Given the description of an element on the screen output the (x, y) to click on. 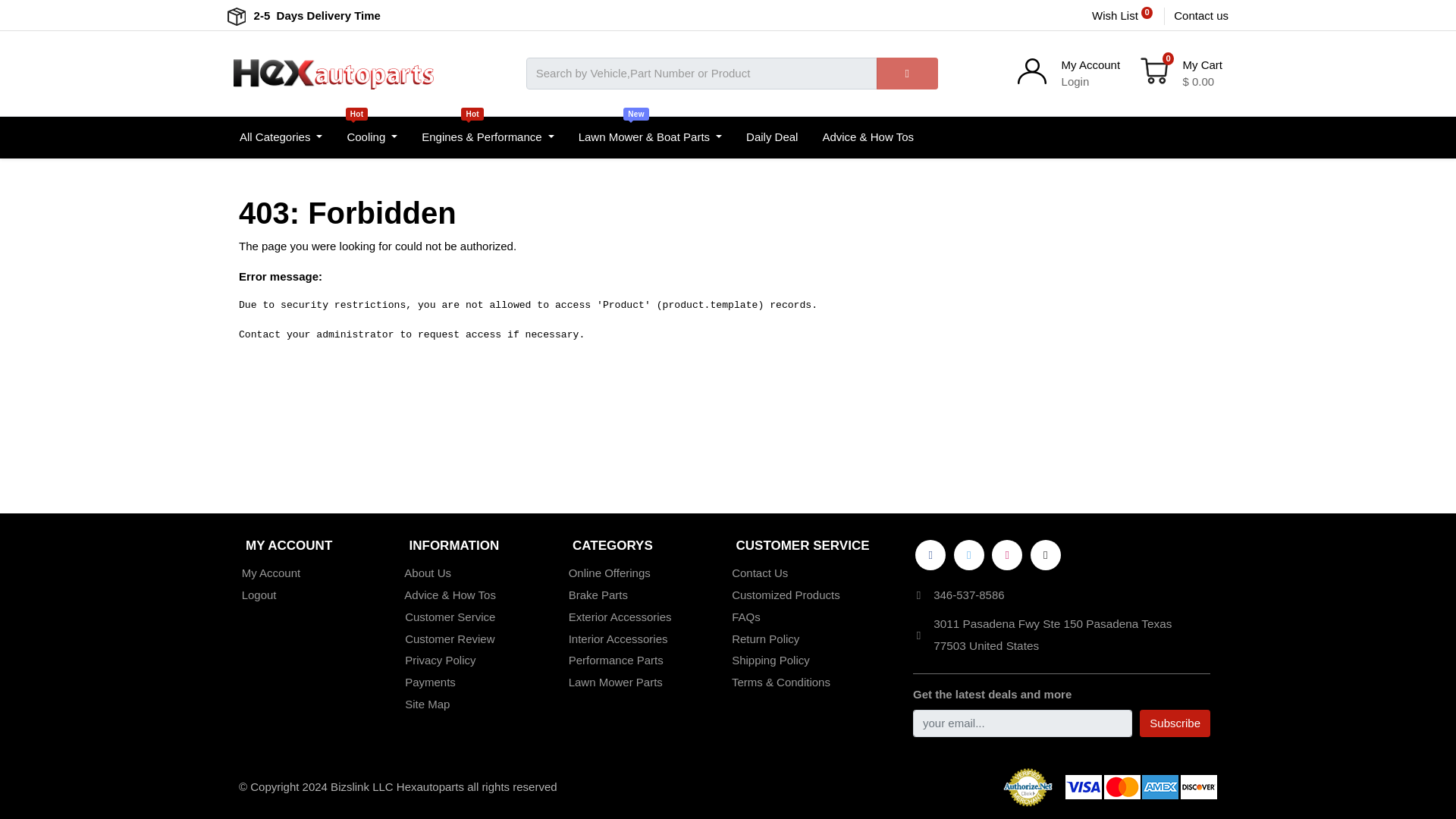
Hexautoparts (332, 72)
Login (1075, 81)
My Account (1091, 64)
Search (906, 73)
All Categories (280, 137)
Wish List 0 (1123, 16)
Contact us (1200, 16)
